Given the description of an element on the screen output the (x, y) to click on. 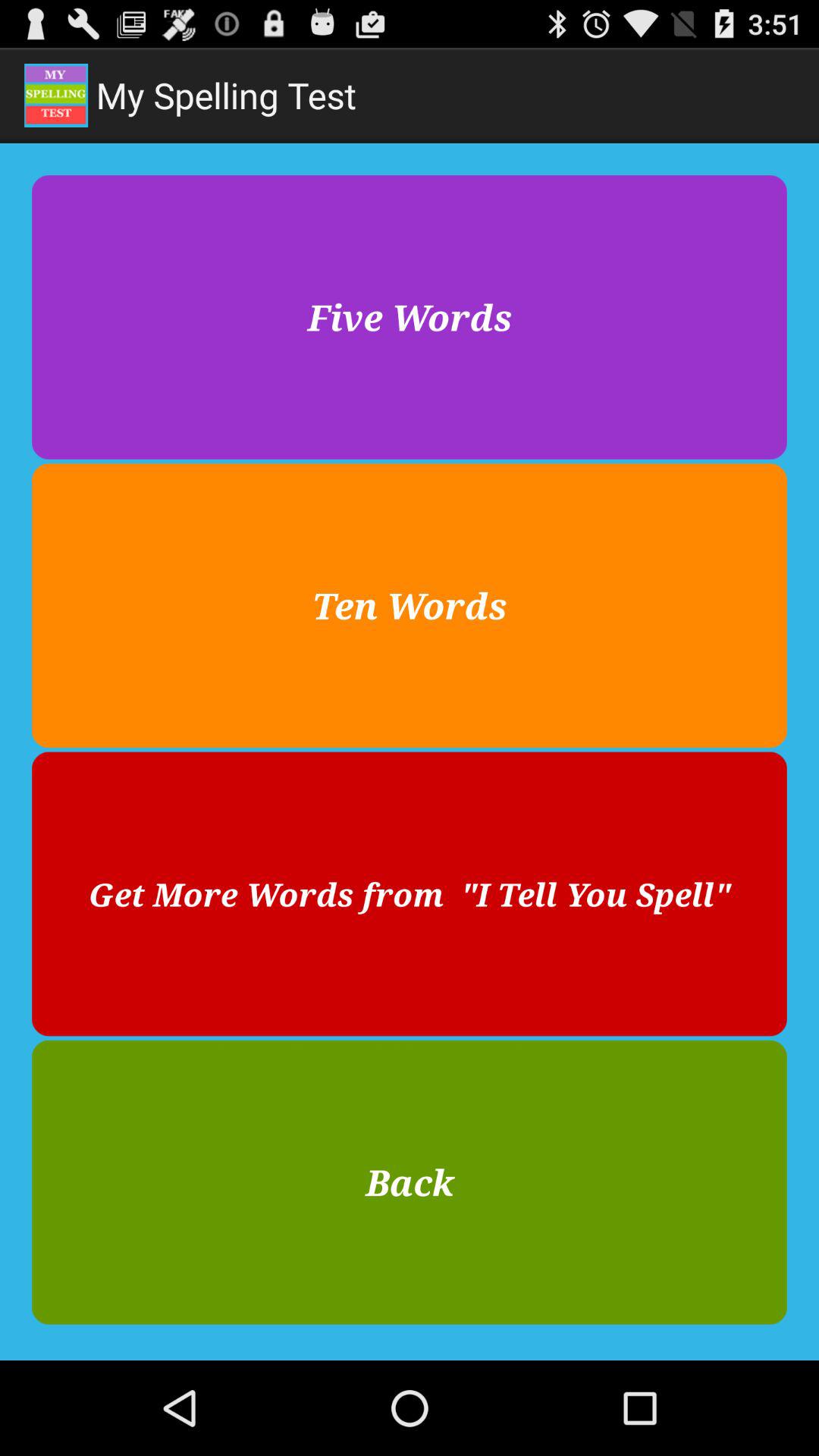
swipe to the ten words button (409, 605)
